Given the description of an element on the screen output the (x, y) to click on. 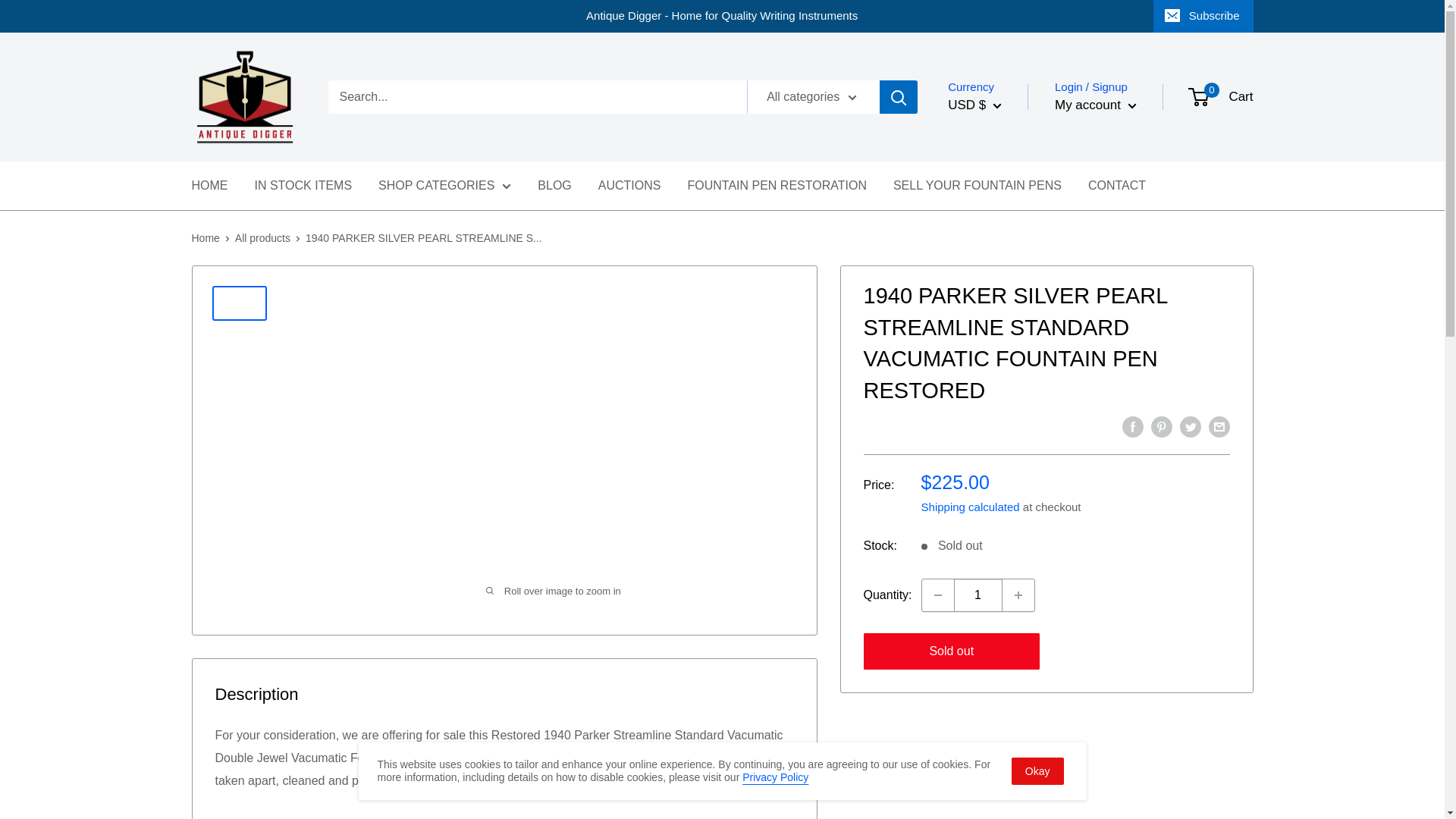
Privacy Policy (775, 776)
Subscribe (1203, 15)
Increase quantity by 1 (1018, 594)
1 (978, 594)
Decrease quantity by 1 (937, 594)
